Given the description of an element on the screen output the (x, y) to click on. 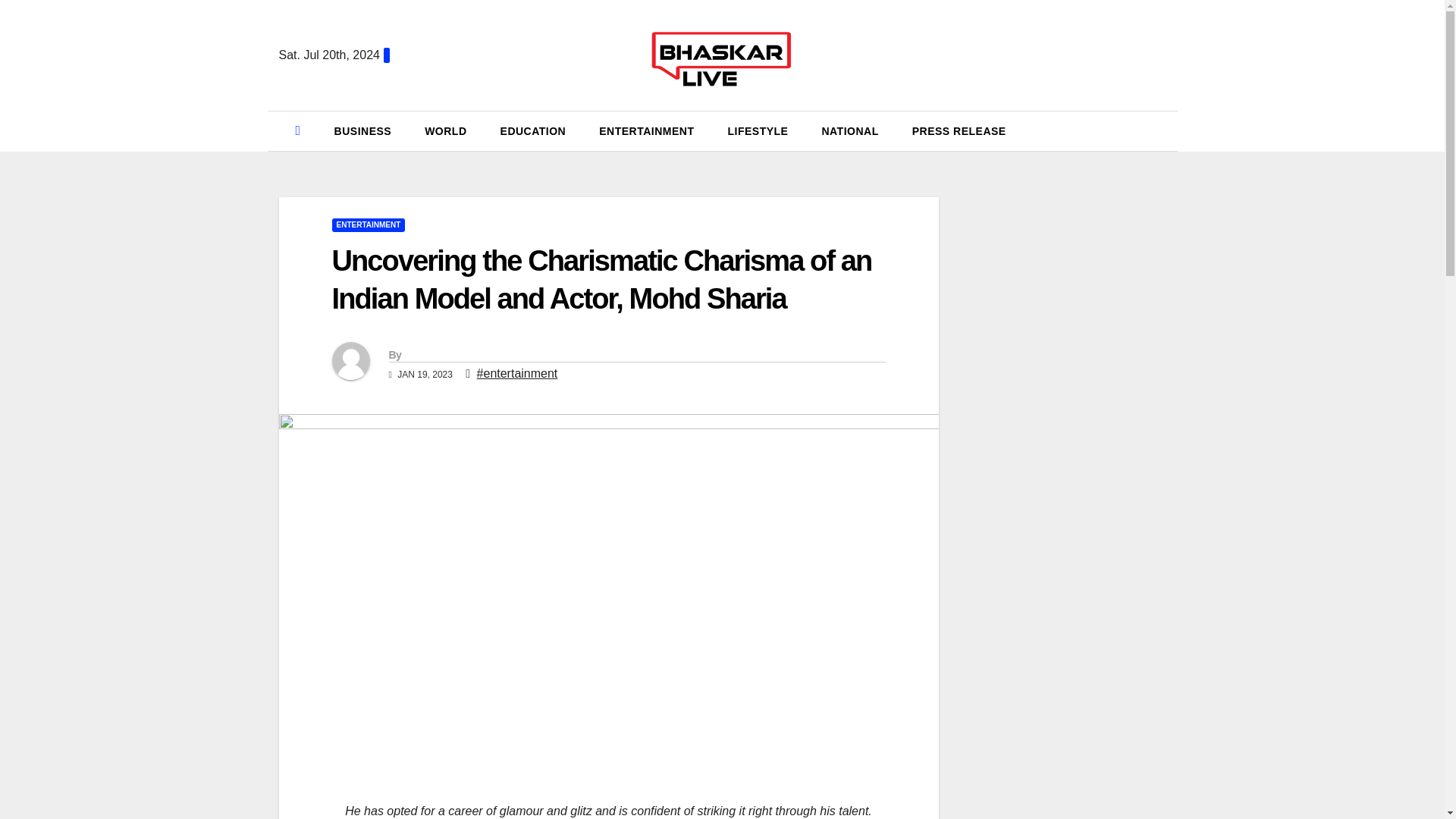
EDUCATION (533, 130)
World (445, 130)
WORLD (445, 130)
ENTERTAINMENT (646, 130)
Entertainment (646, 130)
Business (363, 130)
National (850, 130)
Press Release (959, 130)
Education (533, 130)
LIFESTYLE (757, 130)
ENTERTAINMENT (368, 224)
Lifestyle (757, 130)
PRESS RELEASE (959, 130)
